Given the description of an element on the screen output the (x, y) to click on. 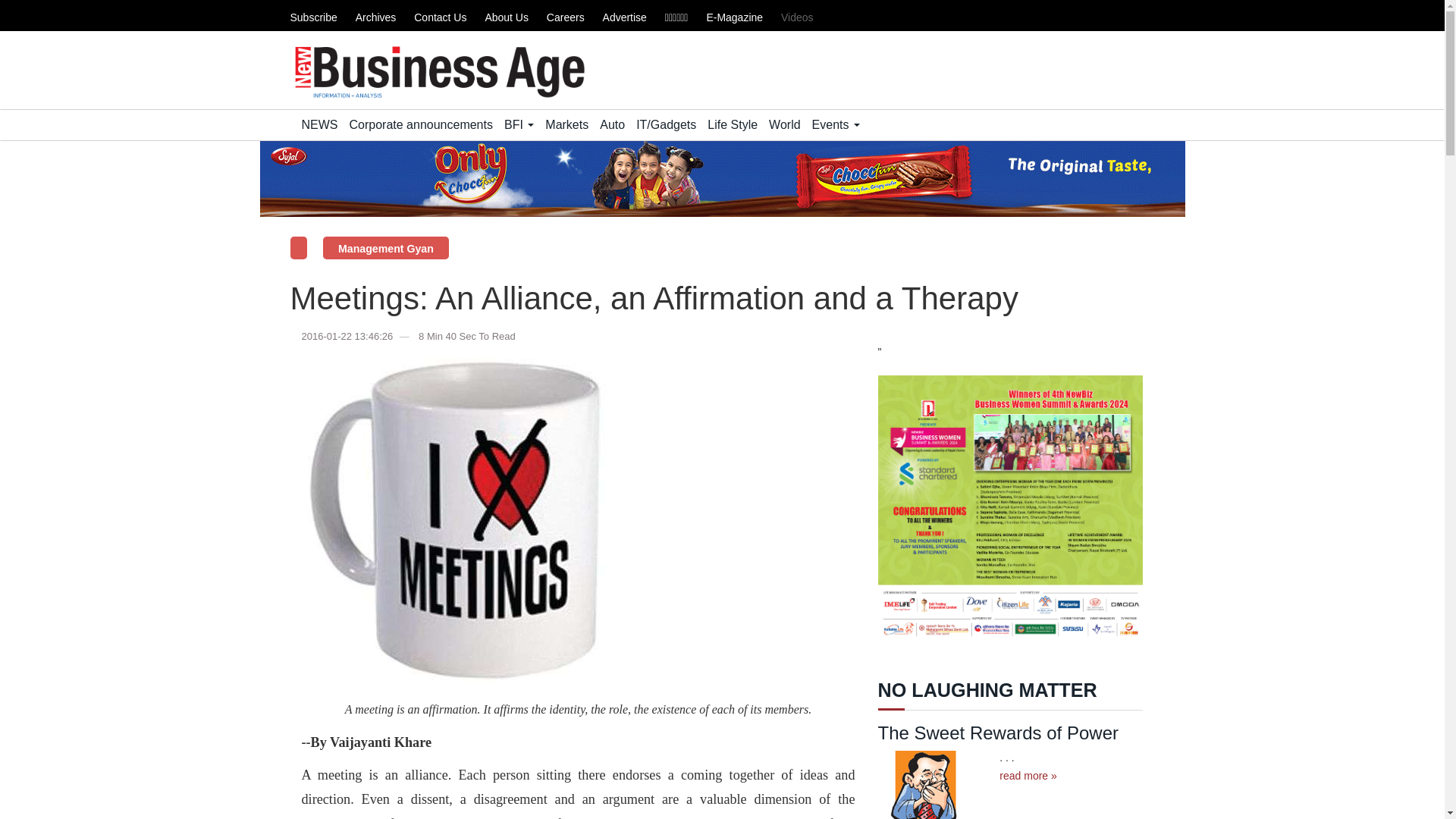
Contact Us (439, 17)
Videos (796, 17)
Advertise (624, 17)
Archives (375, 17)
E-Magazine (734, 17)
Subscribe (312, 17)
Careers (566, 17)
About Us (506, 17)
